Given the description of an element on the screen output the (x, y) to click on. 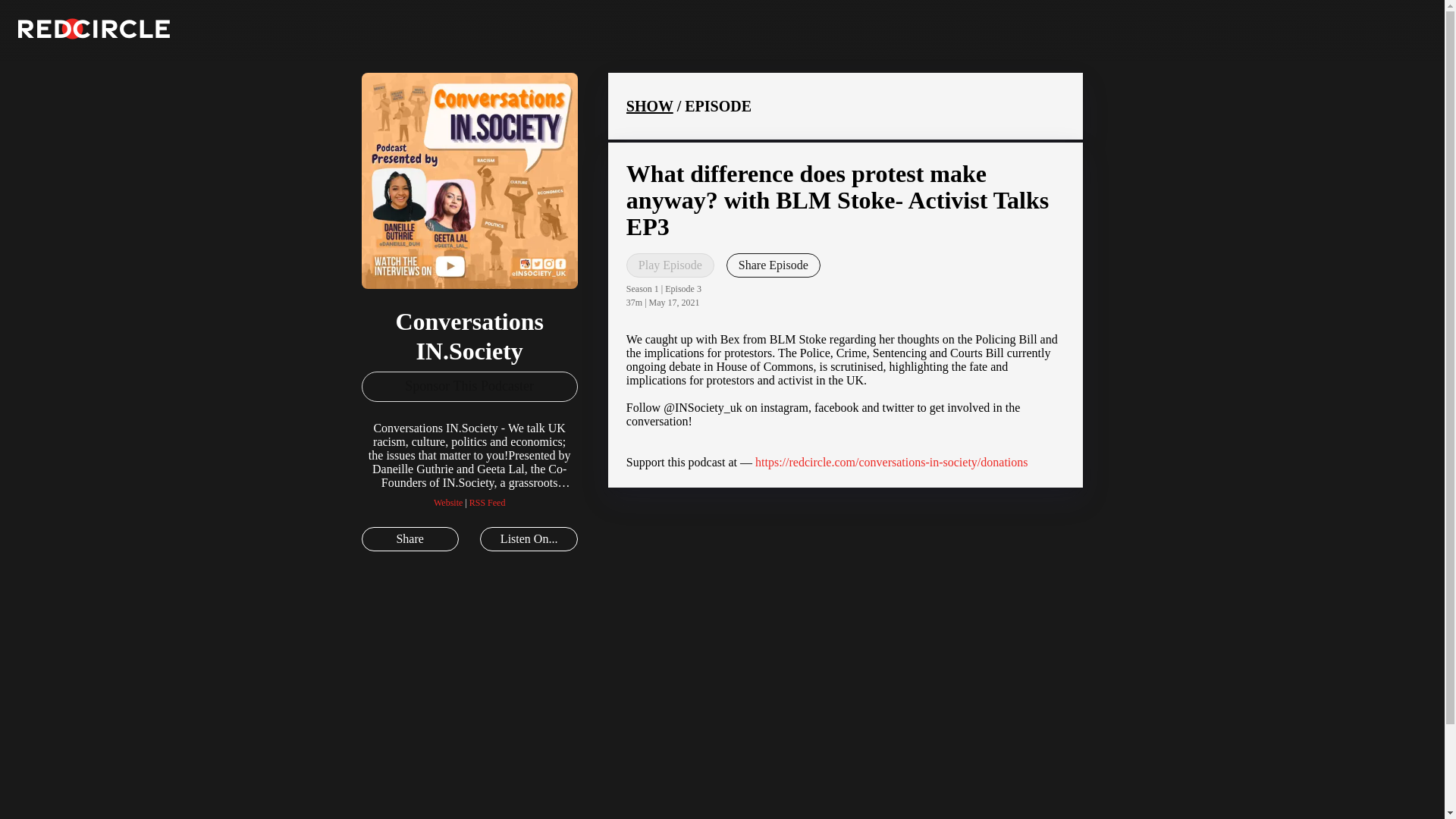
Share (409, 539)
Play Episode (670, 265)
Listen On... (528, 539)
Sponsor This Podcaster (468, 386)
Website (448, 502)
RSS Feed (486, 502)
SHOW (649, 105)
Share Episode (773, 265)
